Given the description of an element on the screen output the (x, y) to click on. 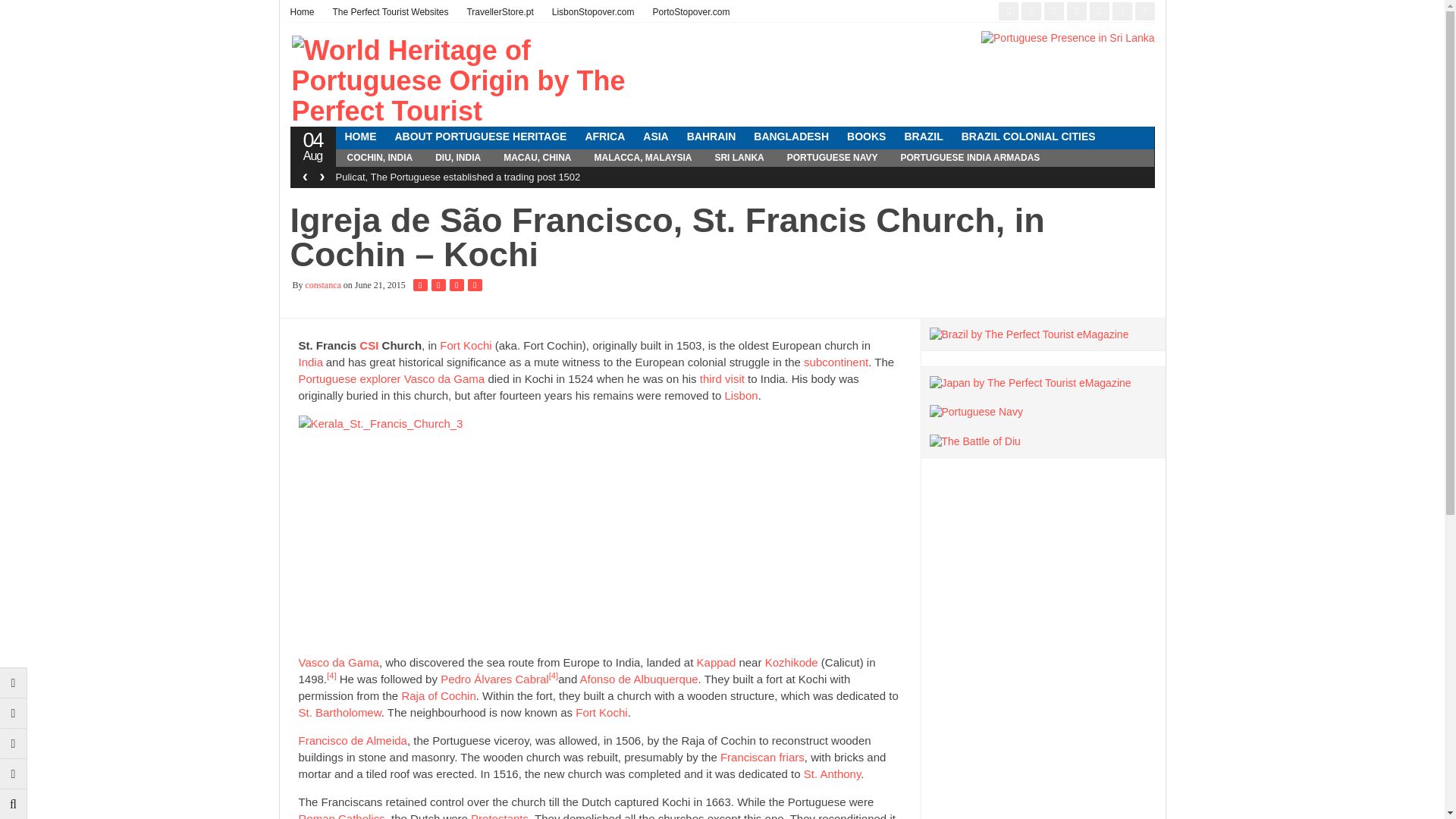
TravellerStore.pt (499, 12)
Next post: Jewish in Cochin, 16th Century (13, 712)
LisbonStopover.com (593, 12)
Go to homepage (13, 773)
Perfect Portuguese Gifts (499, 12)
Get in touch with us (13, 743)
Home (306, 12)
The Perfect Tourist Websites (390, 12)
PortoStopover.com (690, 12)
Search in site... (13, 803)
Prev post: Feitorias, Factories (13, 682)
World Heritage of Portuguese Origin by The Perfect Tourist (483, 81)
